Given the description of an element on the screen output the (x, y) to click on. 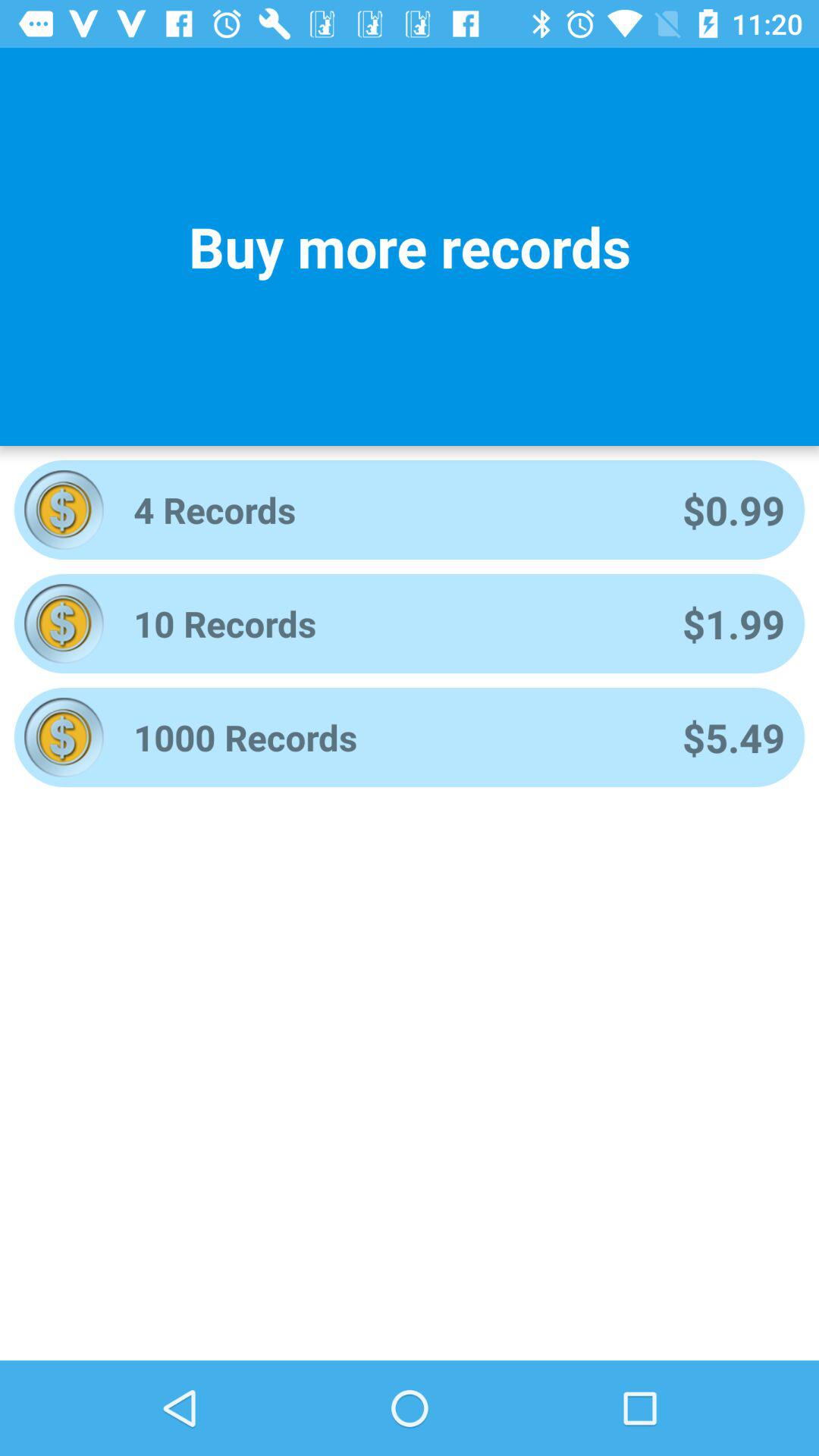
scroll to the $5.49 item (733, 737)
